Given the description of an element on the screen output the (x, y) to click on. 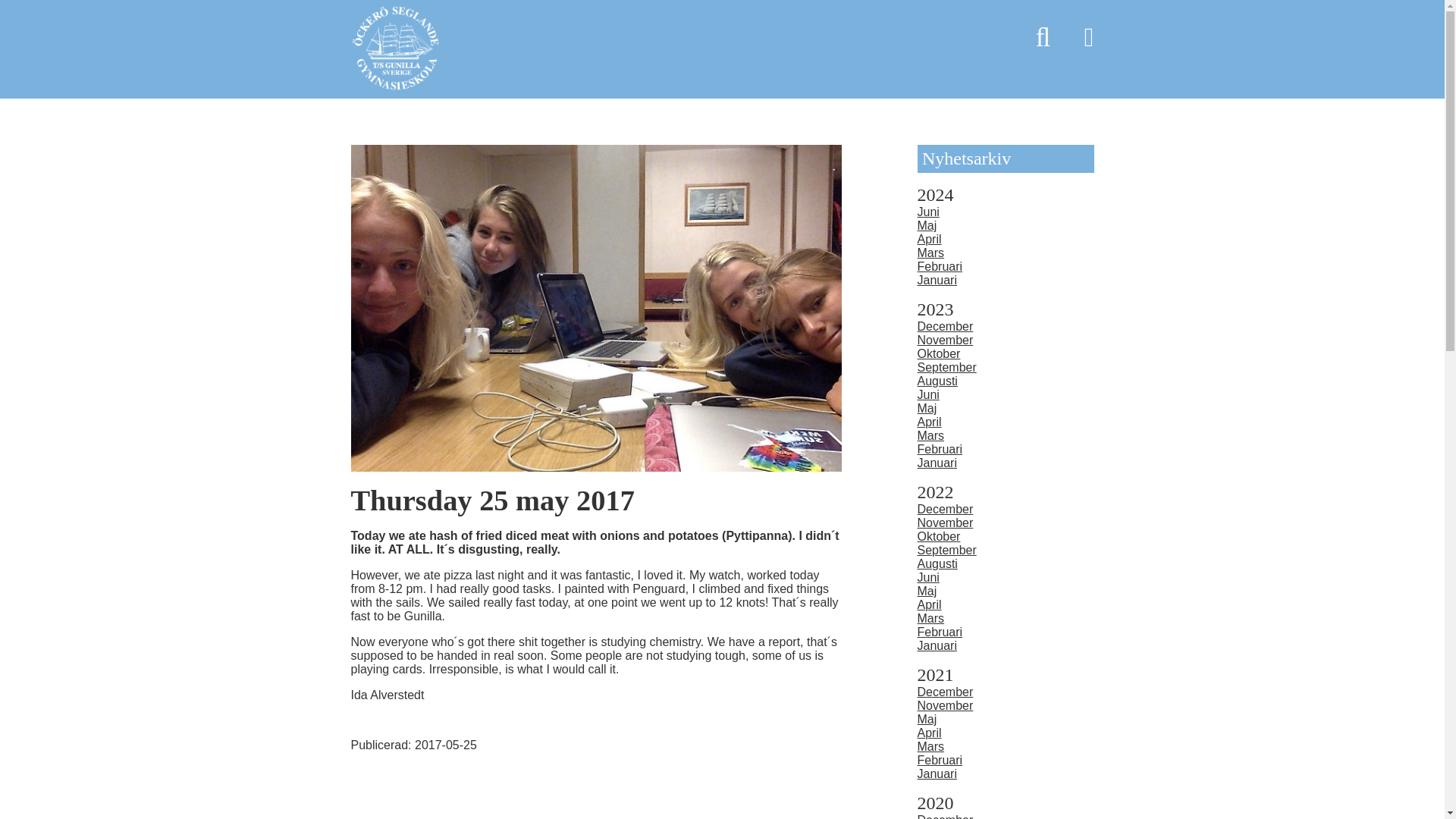
jan 2024 (936, 279)
apr 2023 (929, 421)
aug 2023 (937, 380)
mar 2024 (930, 252)
mar 2023 (930, 435)
nov 2023 (945, 339)
feb 2024 (939, 266)
sep 2023 (946, 367)
jun 2023 (928, 394)
okt 2022 (938, 535)
dec 2023 (945, 326)
nov 2022 (945, 522)
maj 2024 (927, 225)
feb 2023 (939, 449)
dec 2022 (945, 508)
